Given the description of an element on the screen output the (x, y) to click on. 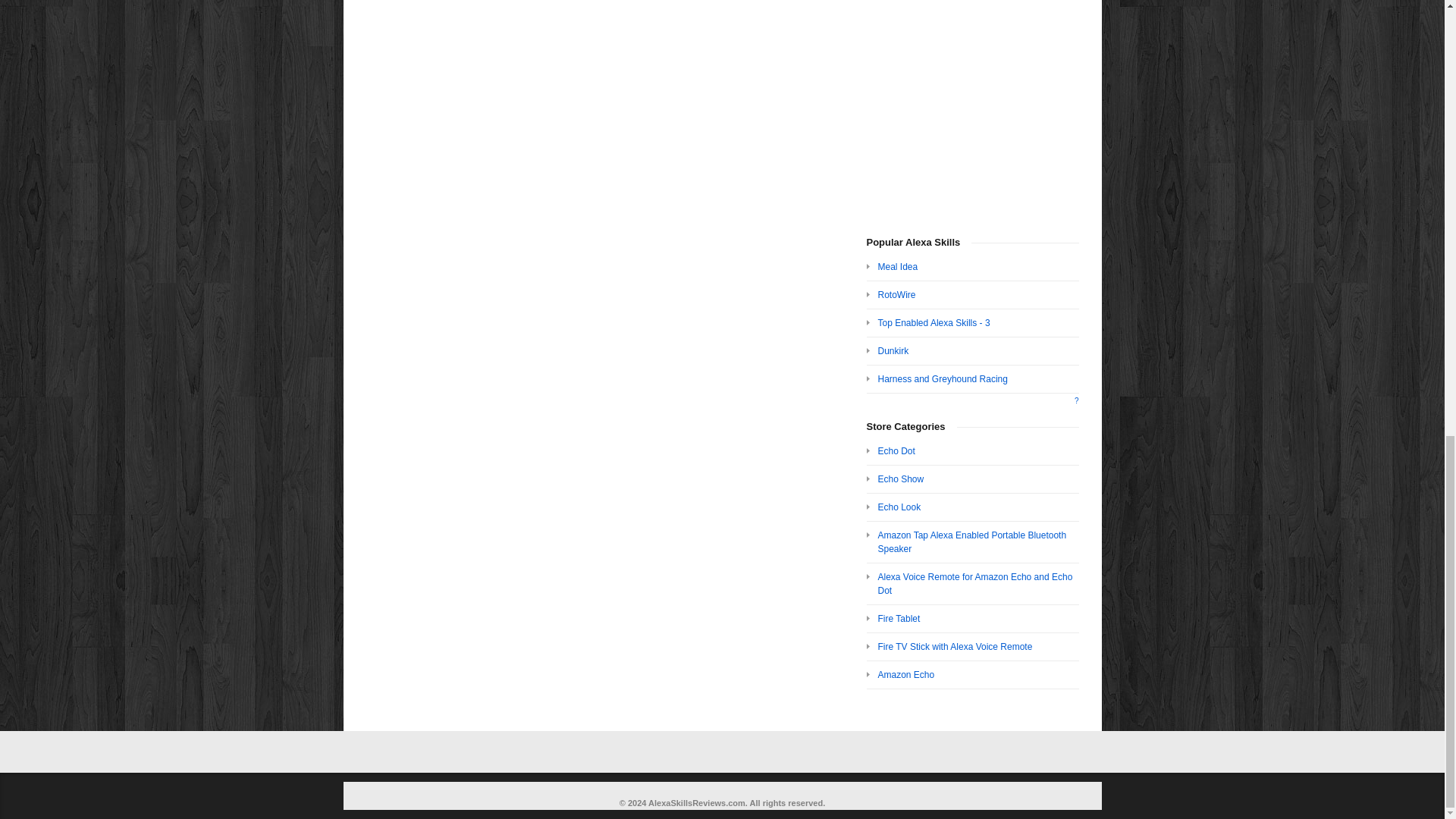
Top Enabled Alexa Skills - 3 (933, 322)
Amazon Echo (905, 674)
Echo Show (900, 479)
Dunkirk (892, 350)
Advertisement (972, 104)
More About This Widget (1076, 400)
Fire TV Stick with Alexa Voice Remote (954, 646)
? (1076, 400)
Echo Dot (896, 450)
Fire Tablet (898, 618)
Amazon Echo (905, 674)
Echo Look (899, 507)
Amazon Tap Alexa Enabled Portable Bluetooth Speaker (972, 541)
Amazon Tap Alexa Enabled Portable Bluetooth Speaker (972, 541)
Echo Dot (896, 450)
